Given the description of an element on the screen output the (x, y) to click on. 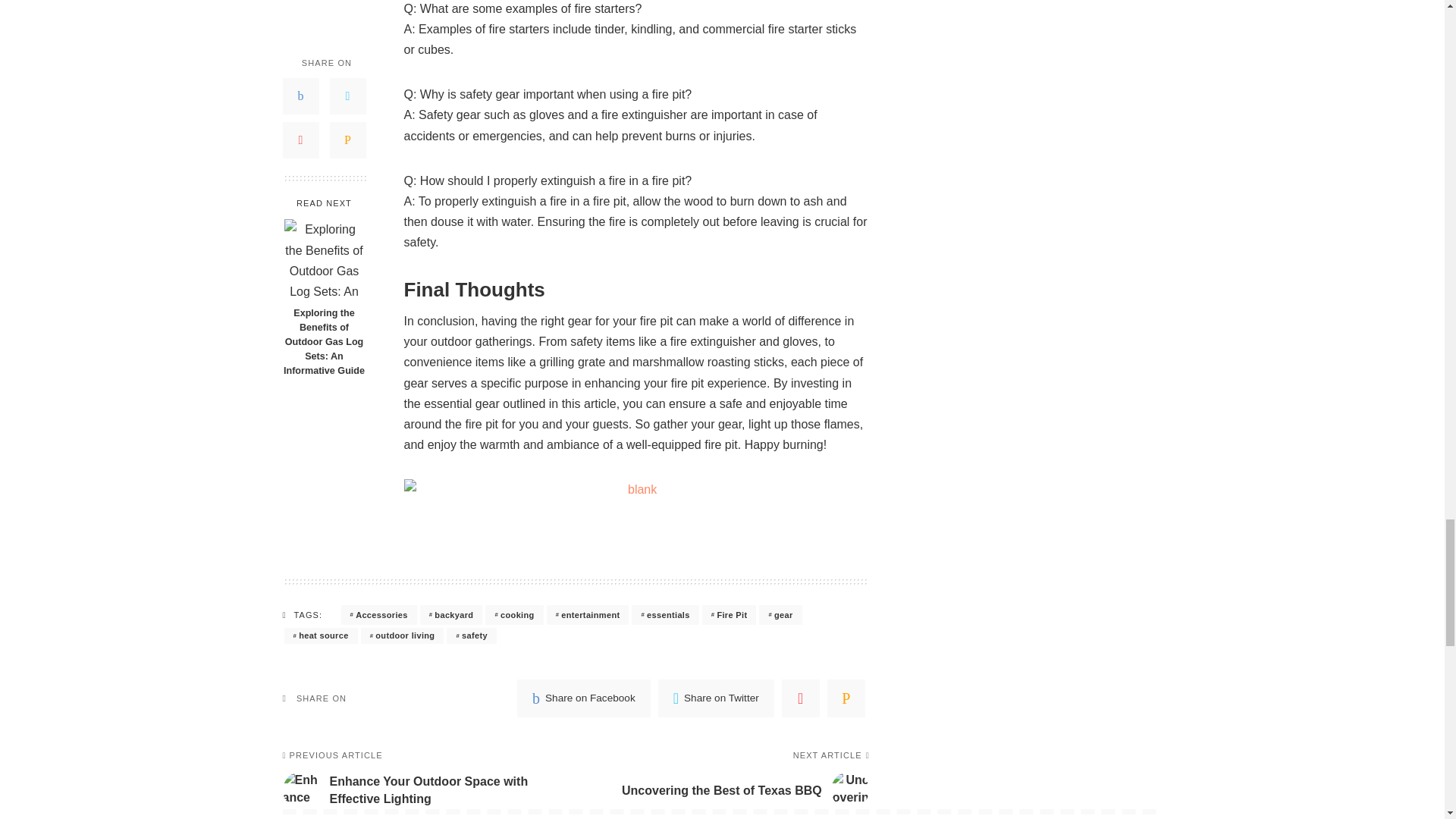
Accessories (378, 614)
essentials (664, 614)
Fire Pit (729, 614)
gear (780, 614)
entertainment (587, 614)
backyard (451, 614)
cooking (513, 614)
